Given the description of an element on the screen output the (x, y) to click on. 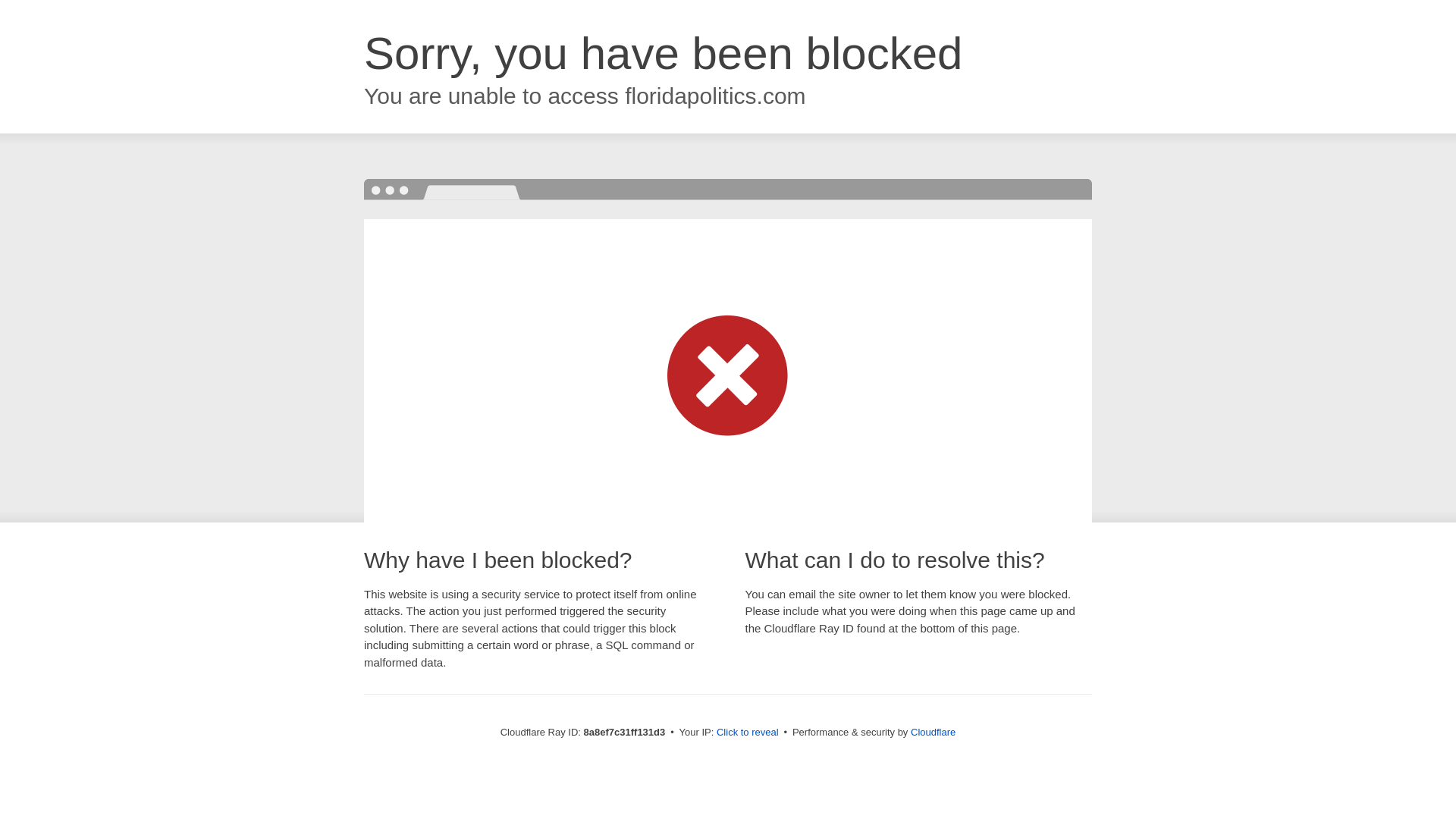
Cloudflare (933, 731)
Click to reveal (747, 732)
